Given the description of an element on the screen output the (x, y) to click on. 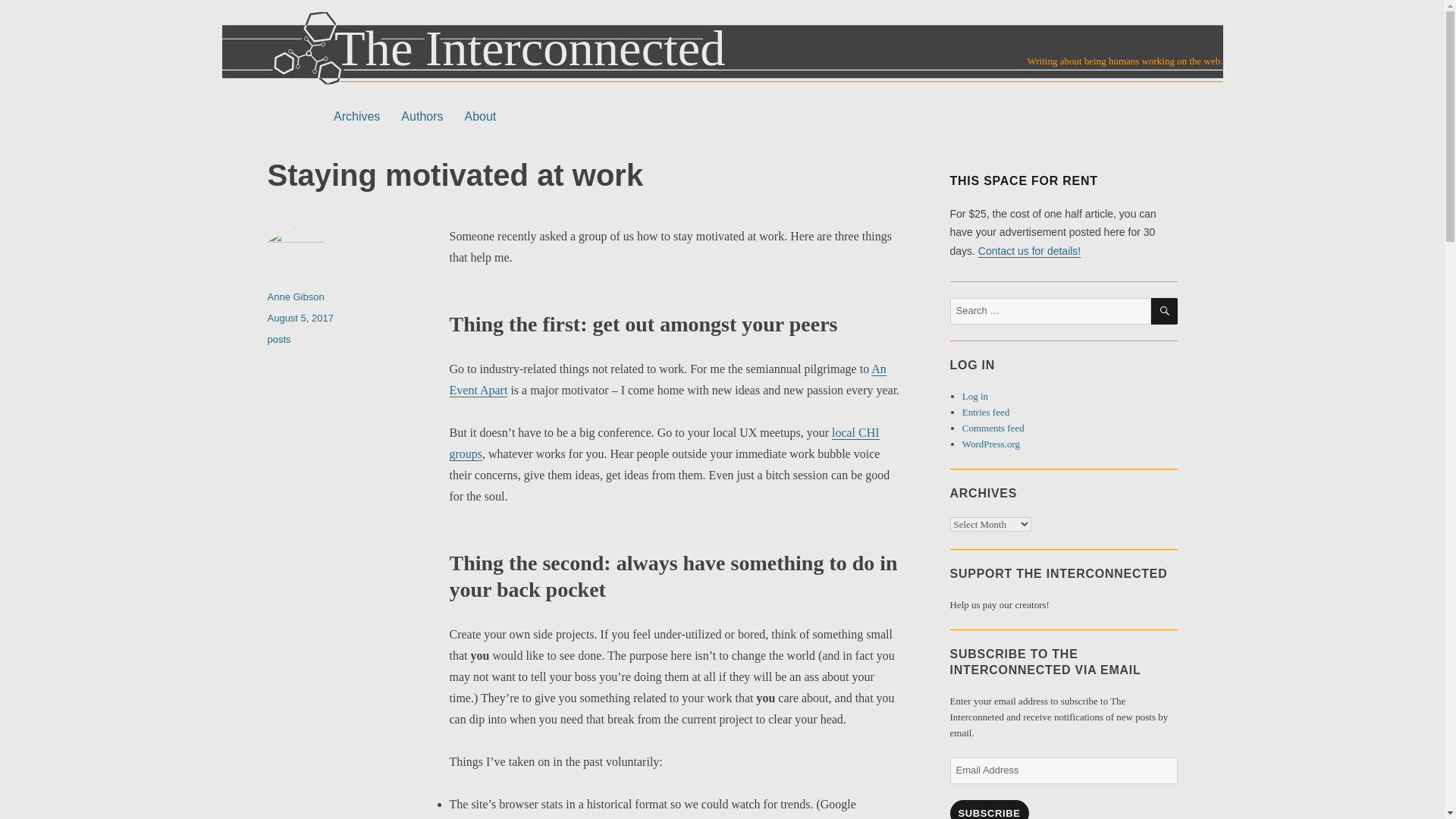
Authors (421, 116)
SEARCH (1164, 311)
WordPress.org (991, 443)
About (479, 116)
SUBSCRIBE (988, 809)
An Event Apart (666, 379)
Comments feed (993, 428)
local CHI groups (663, 442)
Entries feed (985, 411)
posts (277, 338)
